Given the description of an element on the screen output the (x, y) to click on. 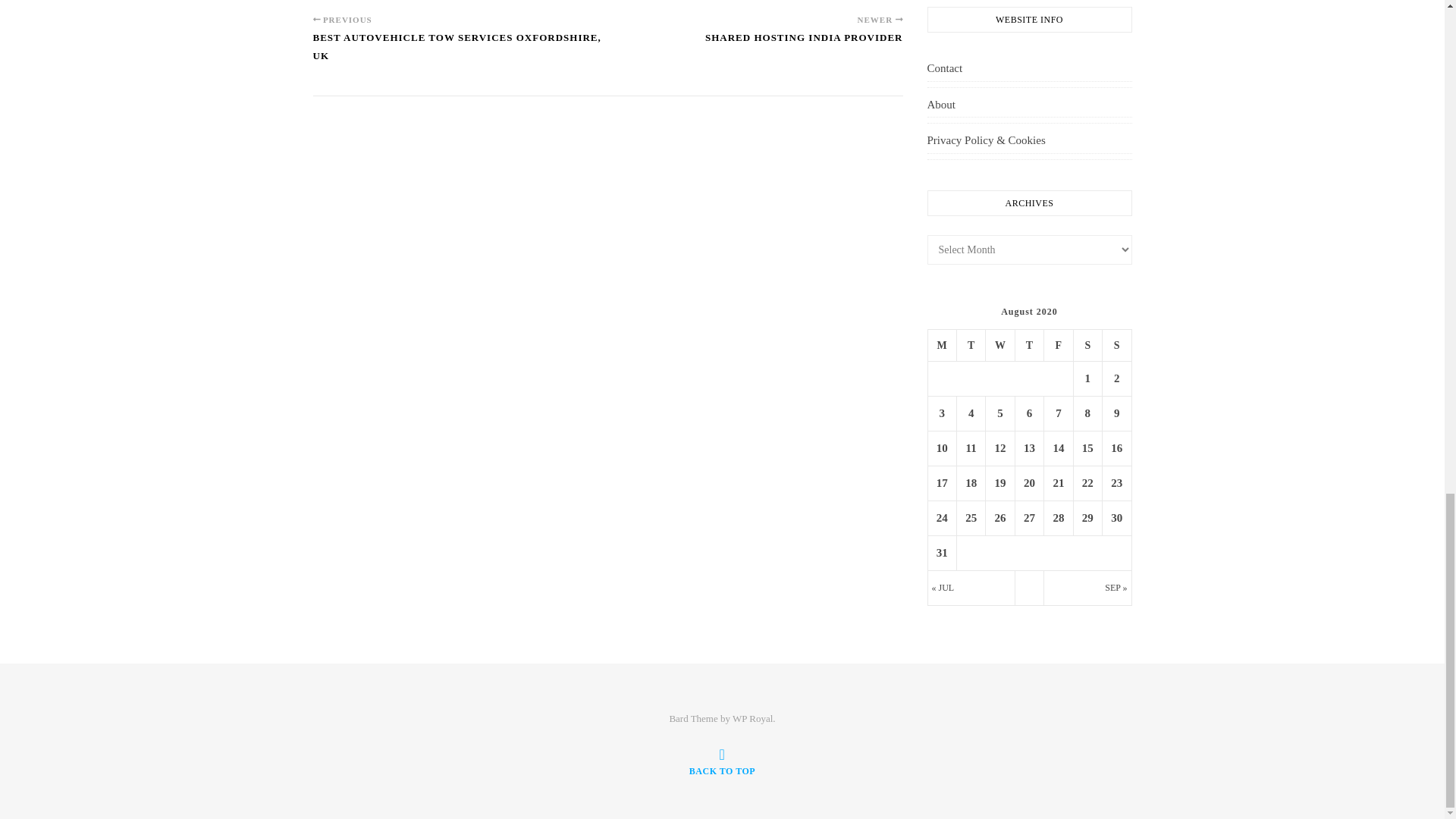
Best autovehicle tow services Oxfordshire, UK (460, 53)
Sunday (1116, 345)
Wednesday (999, 345)
Tuesday (970, 345)
SHARED HOSTING INDIA PROVIDER (803, 44)
BEST AUTOVEHICLE TOW SERVICES OXFORDSHIRE, UK (460, 53)
Shared Hosting India provider (803, 44)
Thursday (1028, 345)
Saturday (1087, 345)
Monday (941, 345)
Friday (1058, 345)
BACK TO TOP (722, 761)
